Given the description of an element on the screen output the (x, y) to click on. 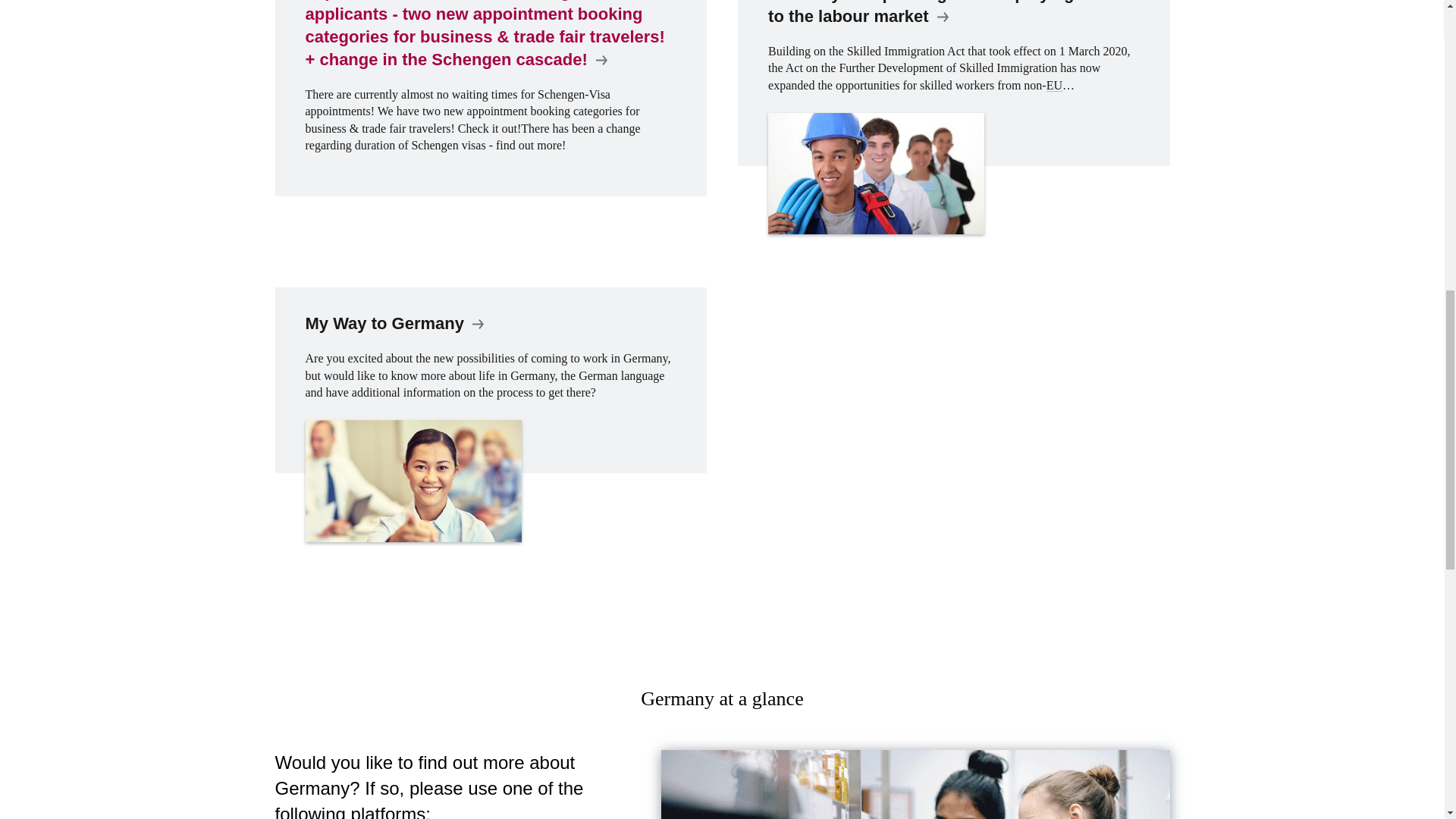
European Union (1054, 84)
My Way to Germany (490, 440)
